Given the description of an element on the screen output the (x, y) to click on. 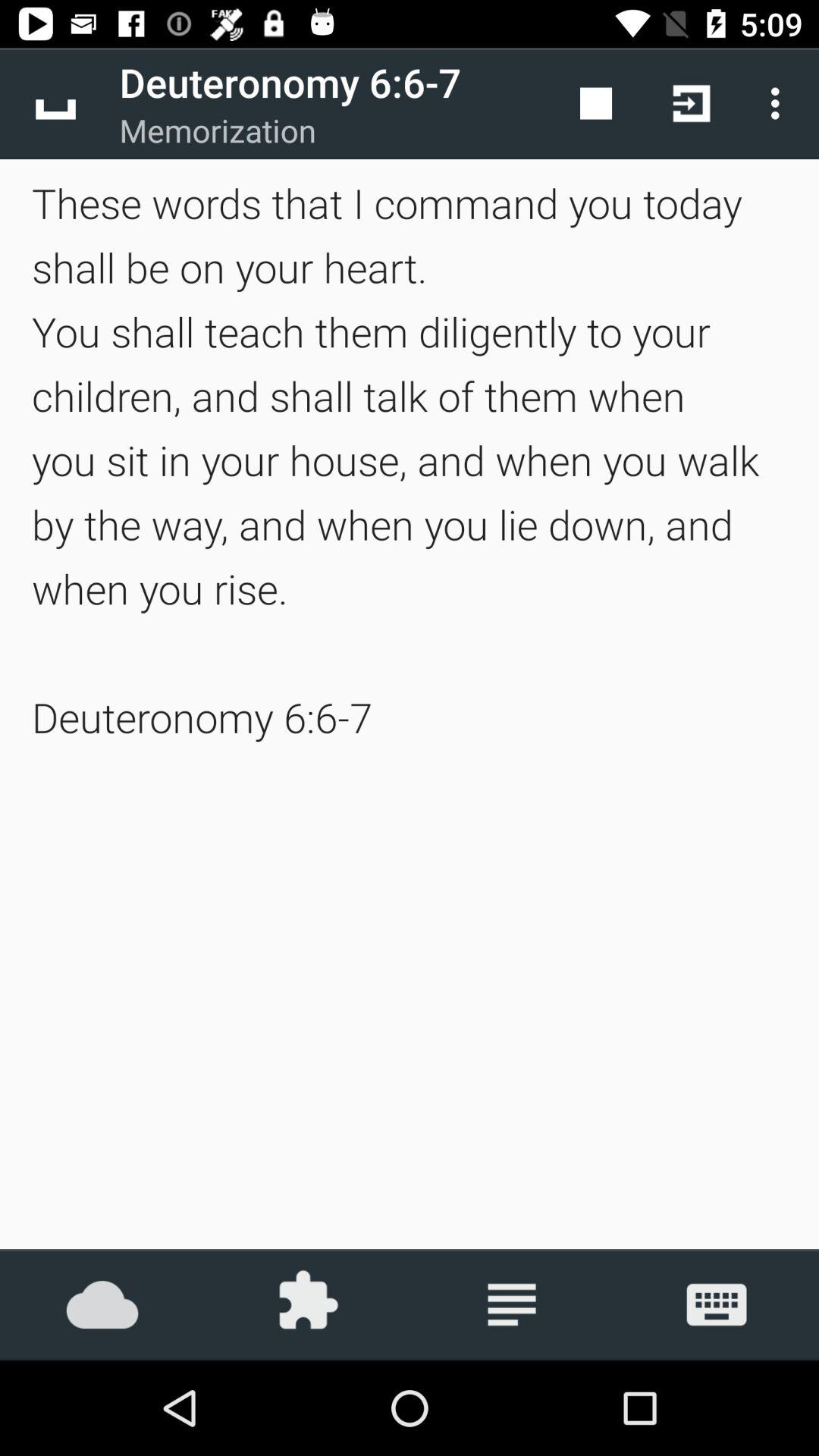
select item below these words that item (511, 1304)
